Given the description of an element on the screen output the (x, y) to click on. 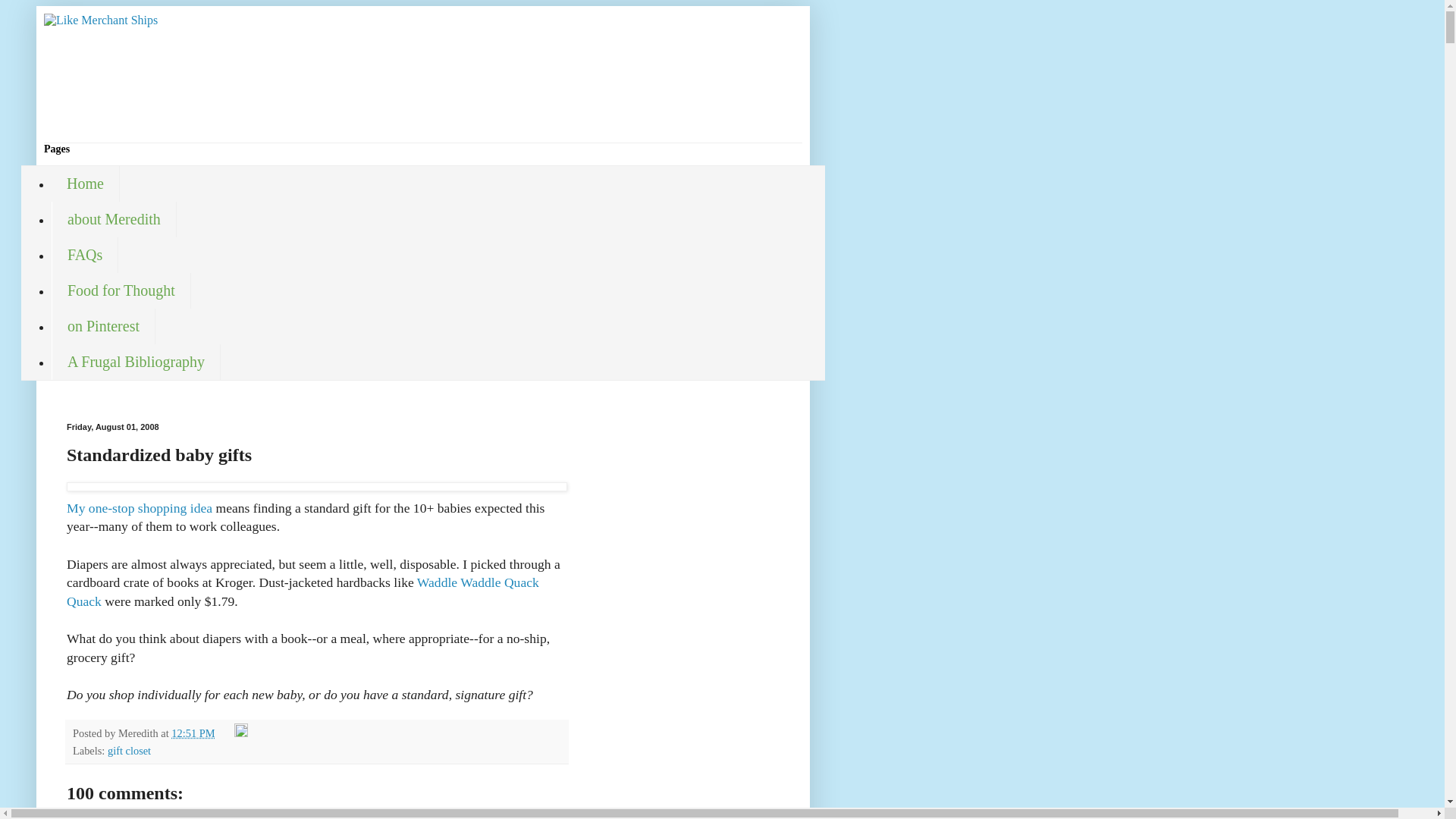
12:51 PM (192, 733)
Edit Post (240, 733)
permanent link (192, 733)
Home (84, 183)
My one-stop shopping idea (316, 498)
A Frugal Bibliography (135, 361)
about Meredith (113, 219)
gift closet (129, 750)
Email Post (225, 733)
Waddle Waddle Quack Quack (302, 591)
